Given the description of an element on the screen output the (x, y) to click on. 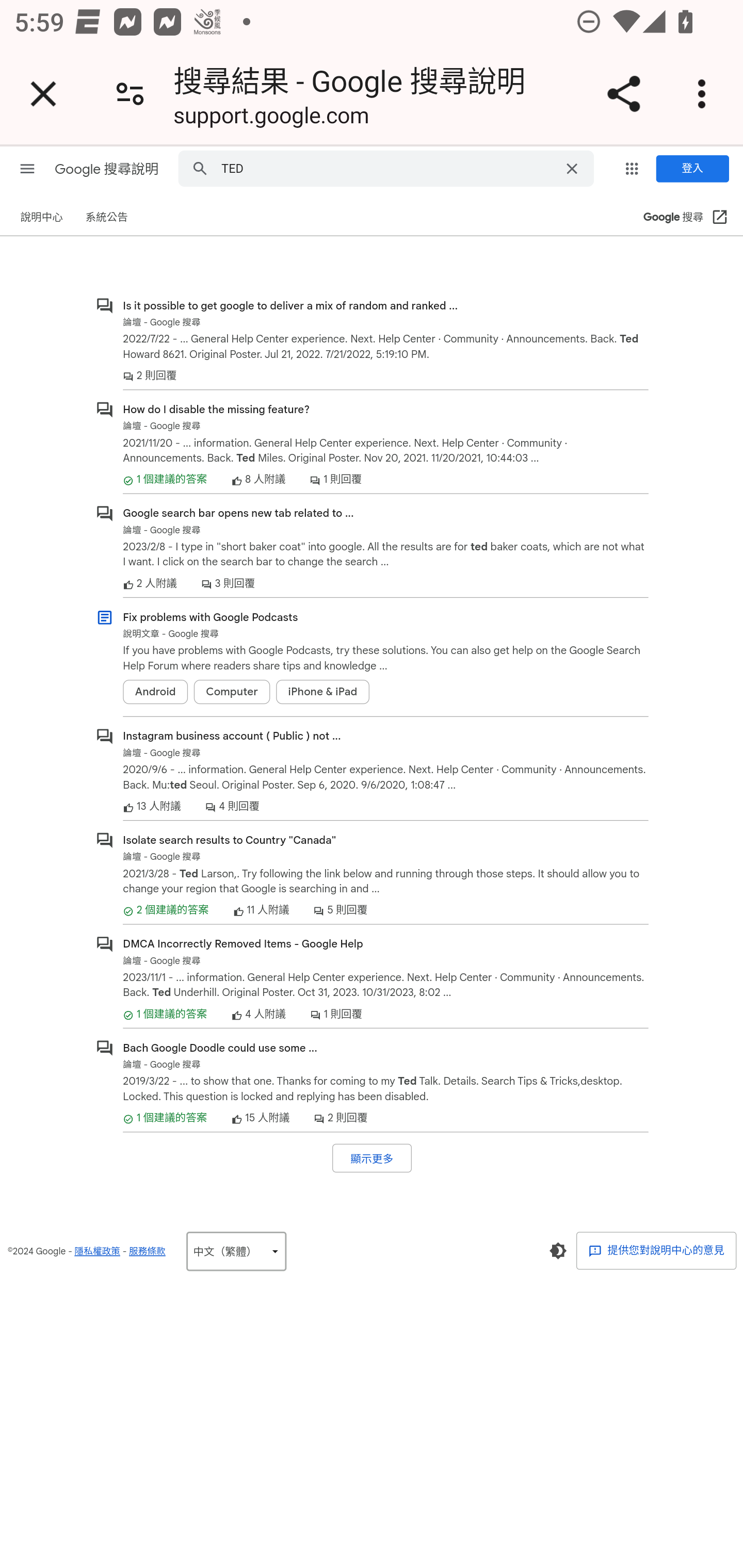
Close tab (43, 93)
Share (623, 93)
Customize and control Google Chrome (705, 93)
Connection is secure (129, 93)
support.google.com (271, 117)
主選單 (27, 168)
Google 搜尋說明 (107, 169)
搜尋說明中心 (199, 167)
TED (388, 167)
清除搜尋內容 (571, 167)
Google 應用程式 (631, 168)
登入 (692, 169)
說明中心 (41, 217)
系統公告 (105, 217)
Google 搜尋 (在新視窗中開啟) Google 搜尋 (685, 217)
Android (154, 691)
Computer (232, 691)
iPhone & iPad (322, 691)
顯示更多 (371, 1157)
選取語言 (中文（繁體）‎) (235, 1250)
 提供您對說明中心的意見 (656, 1250)
啟用深色模式 (557, 1250)
隱私權政策 (97, 1250)
服務條款 (146, 1250)
